Given the description of an element on the screen output the (x, y) to click on. 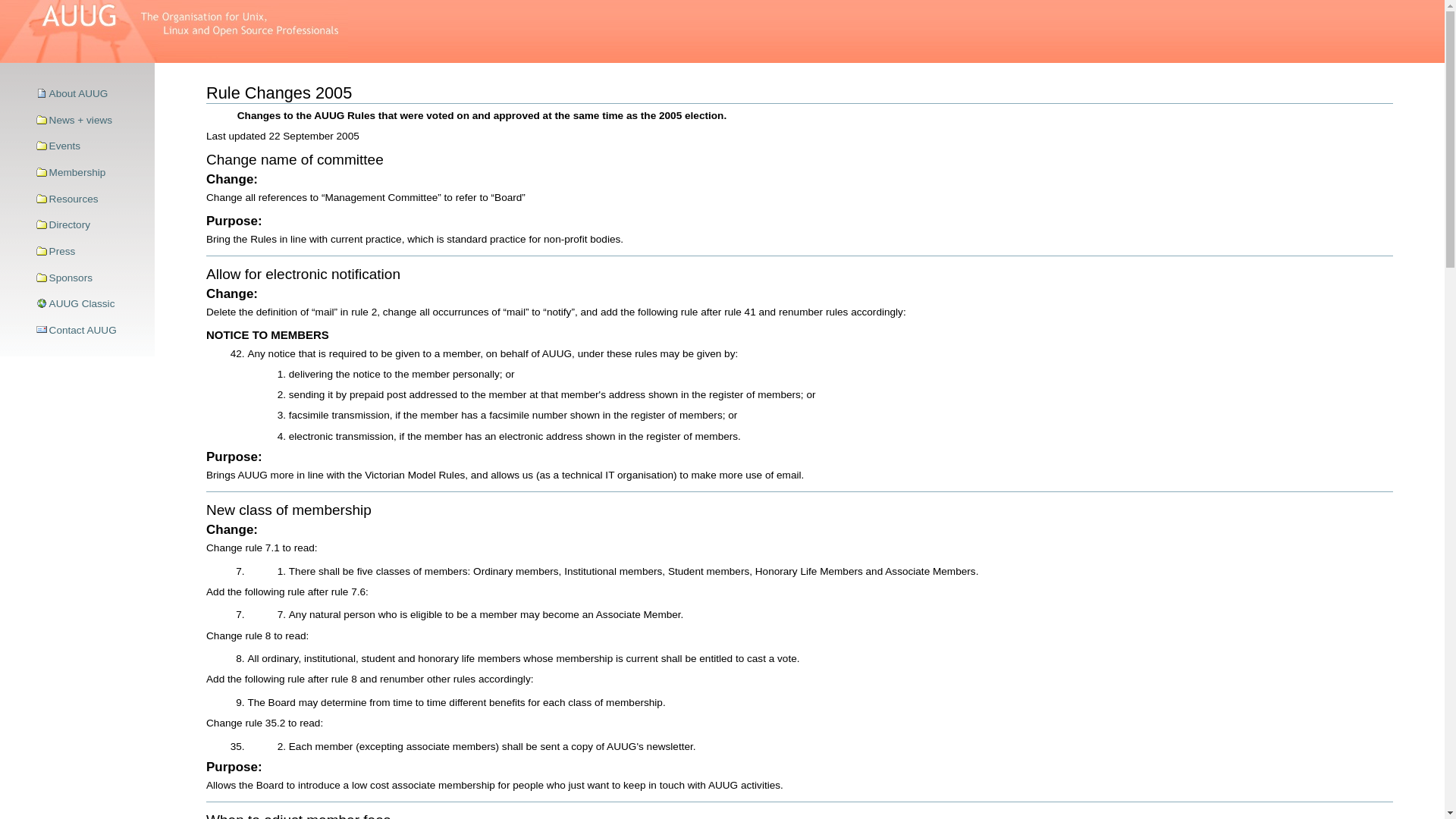
Directory Element type: text (89, 224)
Sponsors Element type: text (89, 277)
Membership Element type: text (89, 172)
Press Element type: text (89, 251)
Resources Element type: text (89, 199)
News + views Element type: text (89, 120)
About AUUG Element type: text (89, 93)
Events Element type: text (89, 146)
Contact AUUG Element type: text (89, 330)
AUUG Classic Element type: text (89, 303)
